Given the description of an element on the screen output the (x, y) to click on. 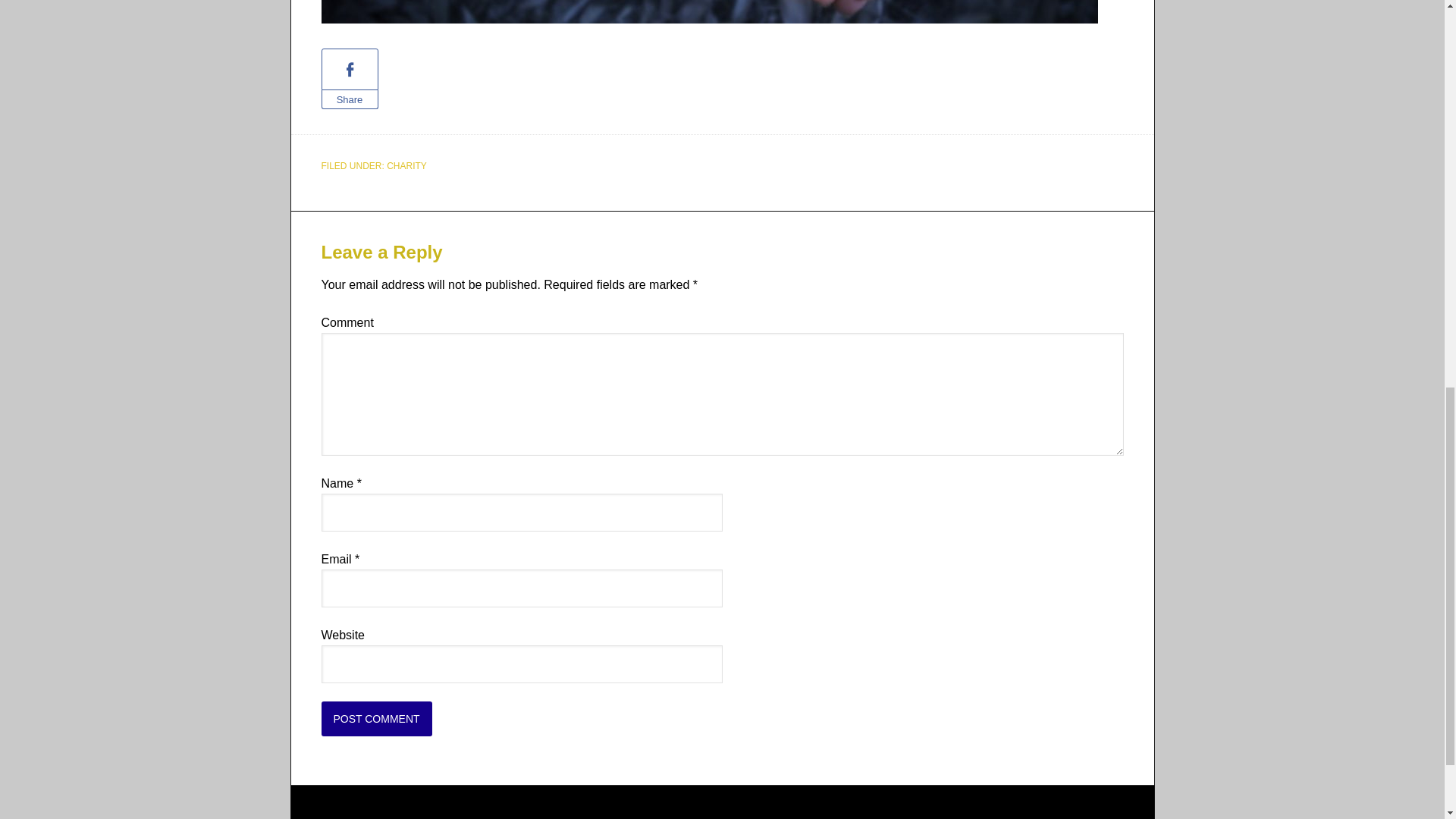
Share (349, 99)
Post Comment (376, 718)
Post Comment (376, 718)
CHARITY (406, 165)
